Given the description of an element on the screen output the (x, y) to click on. 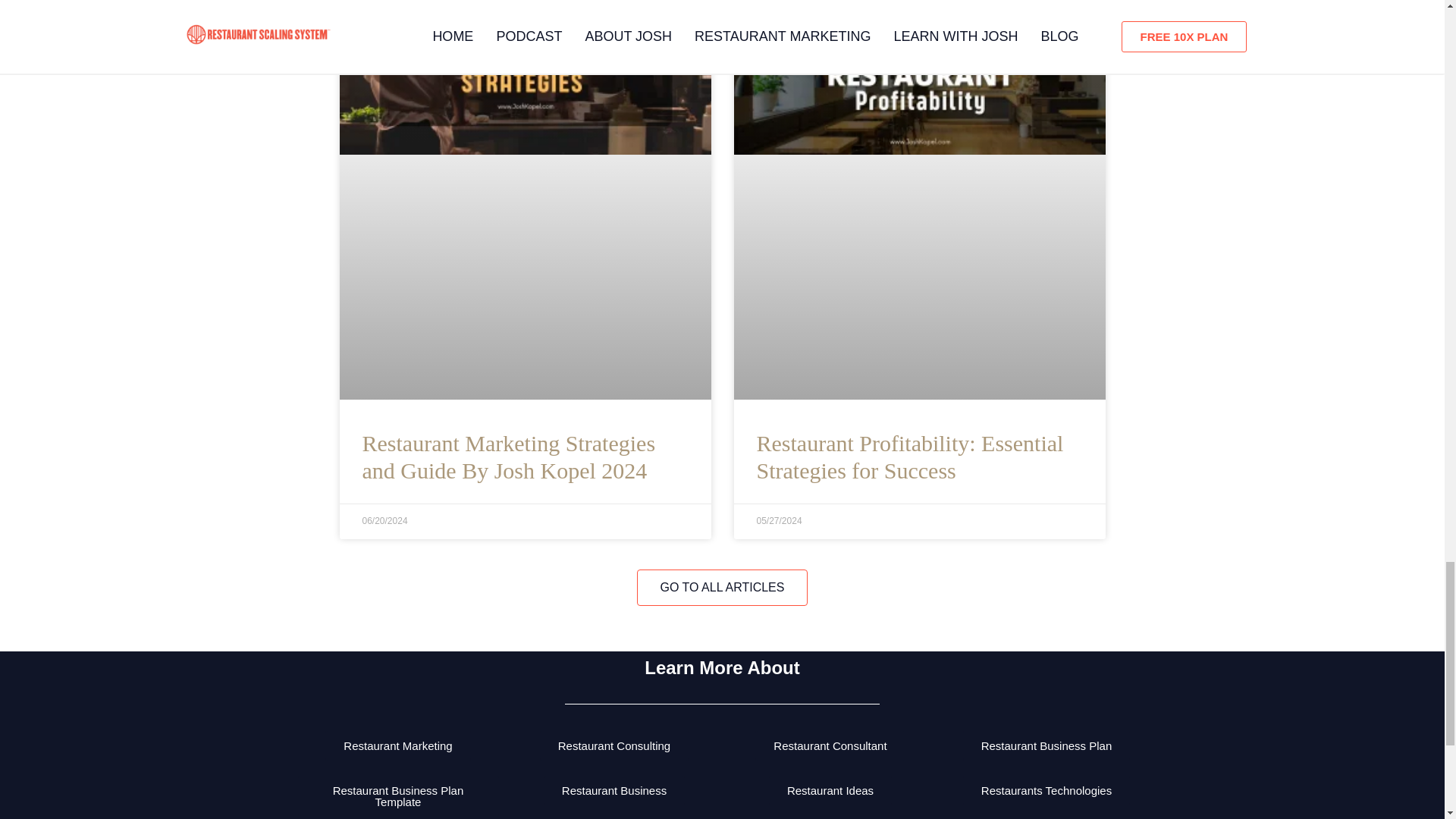
Restaurant Marketing (397, 745)
GO TO ALL ARTICLES (722, 587)
Restaurant Profitability: Essential Strategies for Success (910, 456)
Restaurant Marketing Strategies and Guide By Josh Kopel 2024 (509, 456)
